Given the description of an element on the screen output the (x, y) to click on. 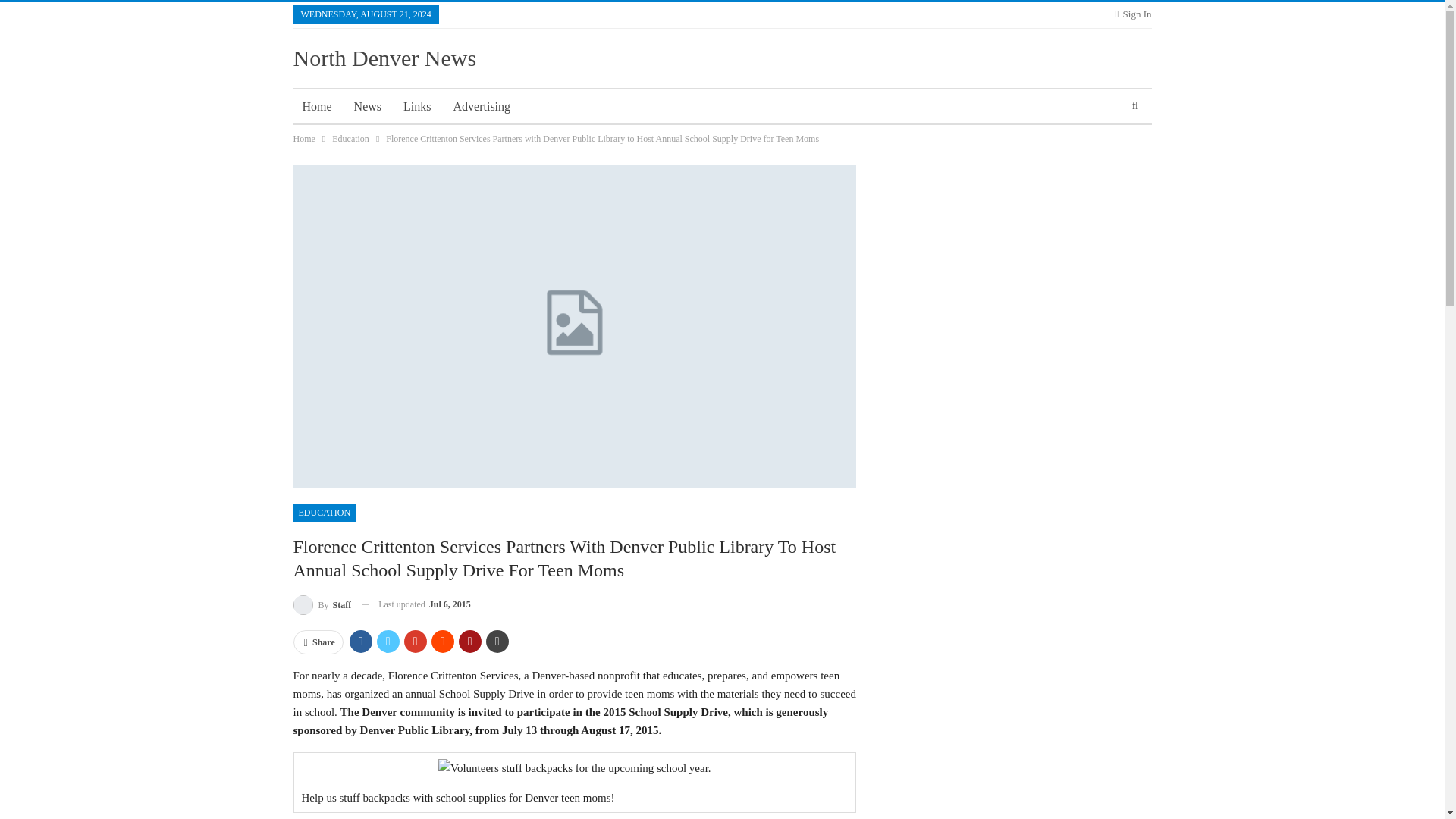
Advertising (481, 106)
Home (316, 106)
Home (303, 138)
North Denver News (384, 57)
Sign In (1133, 13)
Browse Author Articles (321, 604)
Links (416, 106)
News (367, 106)
Education (350, 138)
By Staff (321, 604)
